Given the description of an element on the screen output the (x, y) to click on. 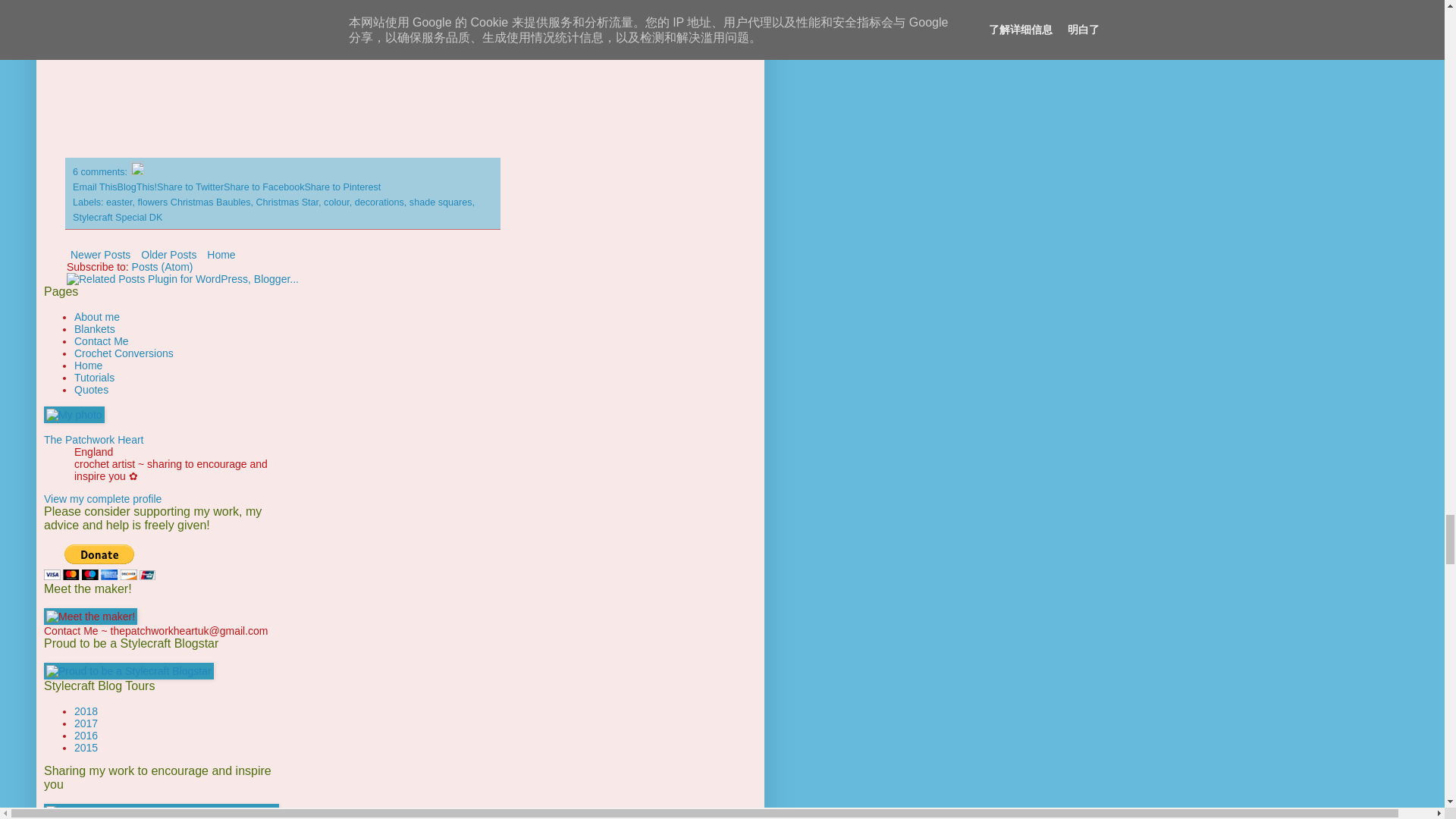
Email This (94, 186)
Share to Twitter (190, 186)
Share to Facebook (264, 186)
Newer Posts (99, 254)
Share to Pinterest (342, 186)
BlogThis! (137, 186)
Edit Post (137, 172)
Older Posts (168, 254)
